Given the description of an element on the screen output the (x, y) to click on. 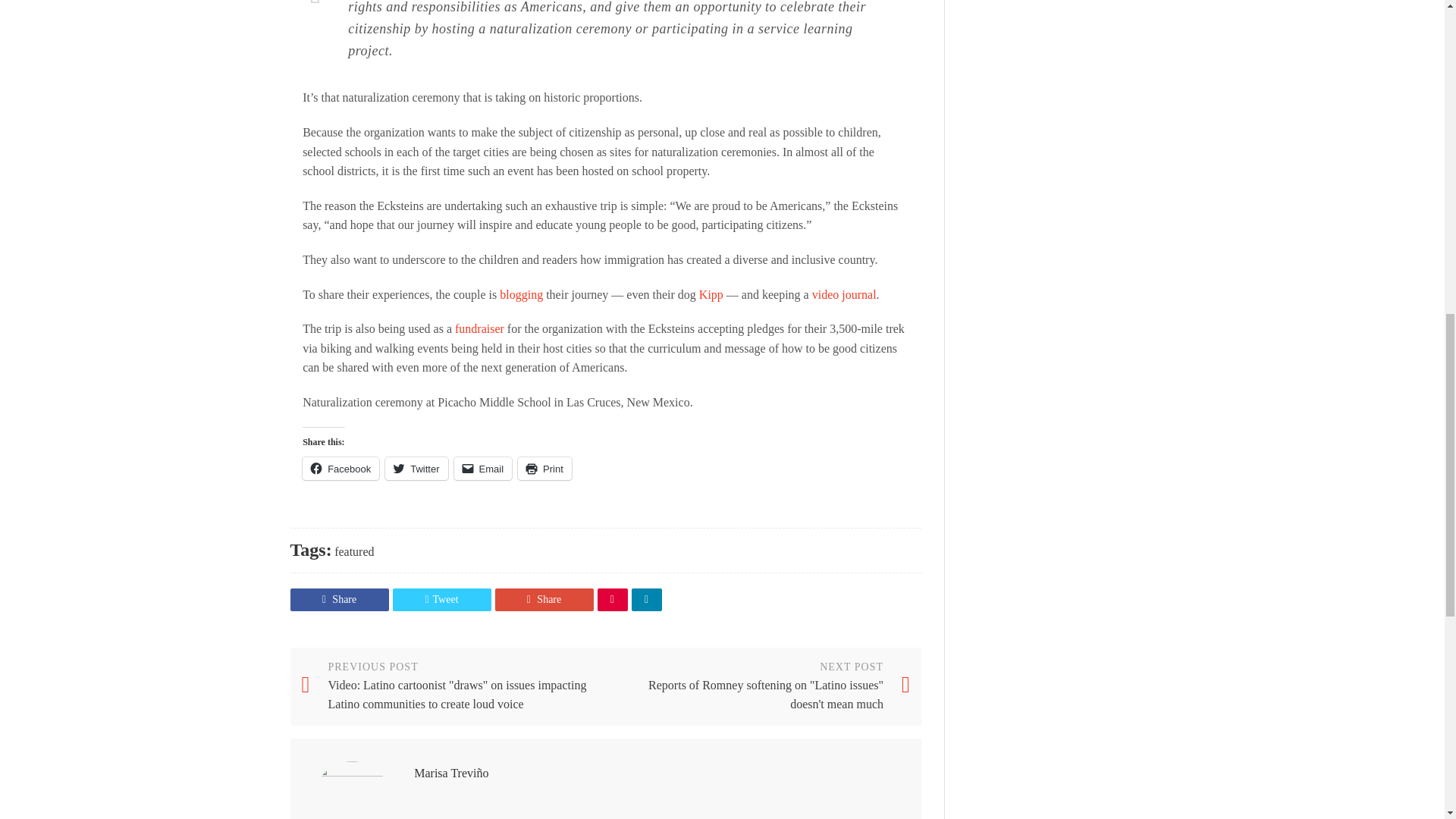
Click to email a link to a friend (483, 468)
Click to share on Facebook (340, 468)
Click to print (545, 468)
Click to share on Twitter (415, 468)
